Given the description of an element on the screen output the (x, y) to click on. 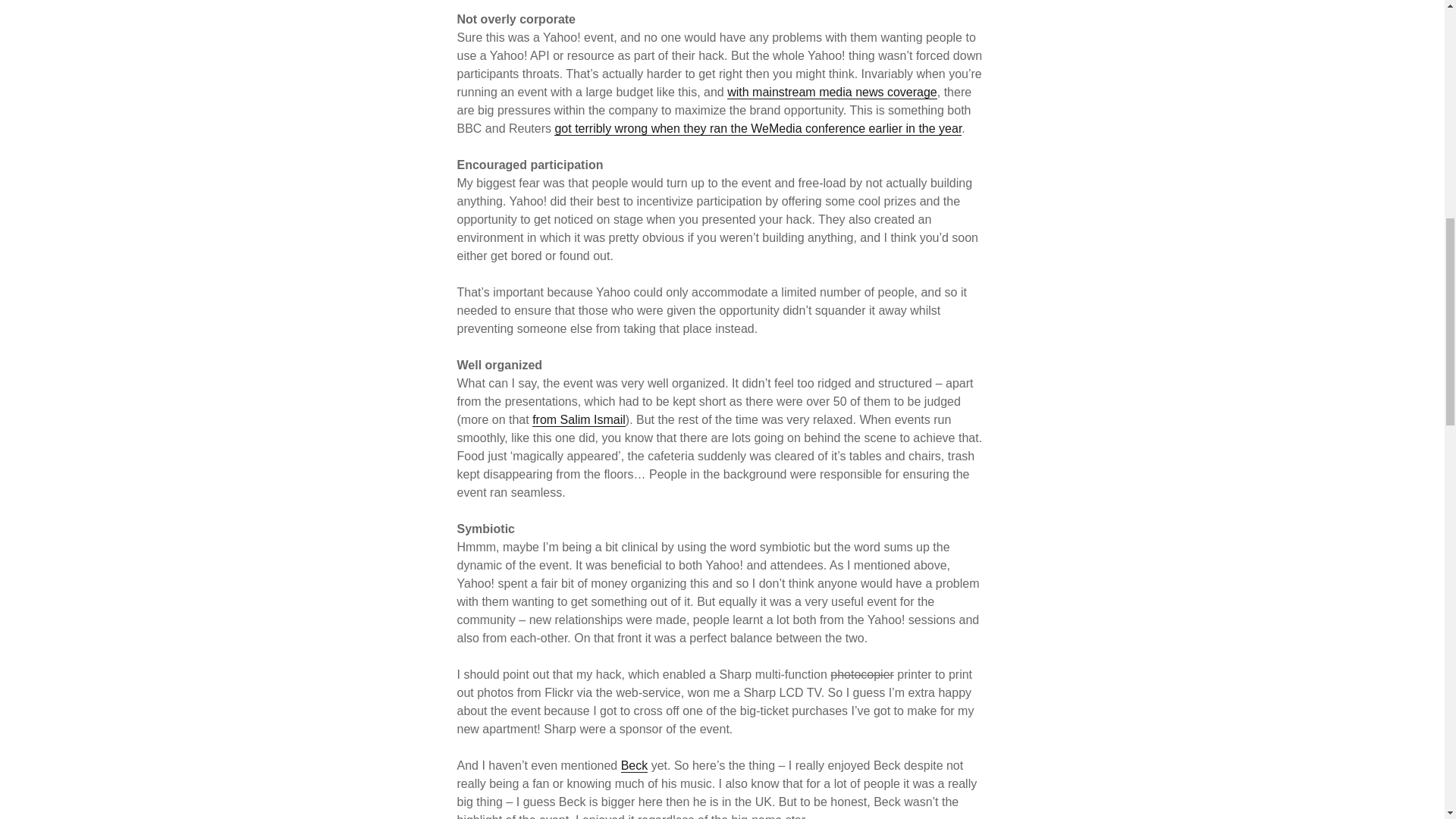
Beck (634, 766)
with mainstream media news coverage (831, 92)
from Salim Ismail (579, 419)
